Given the description of an element on the screen output the (x, y) to click on. 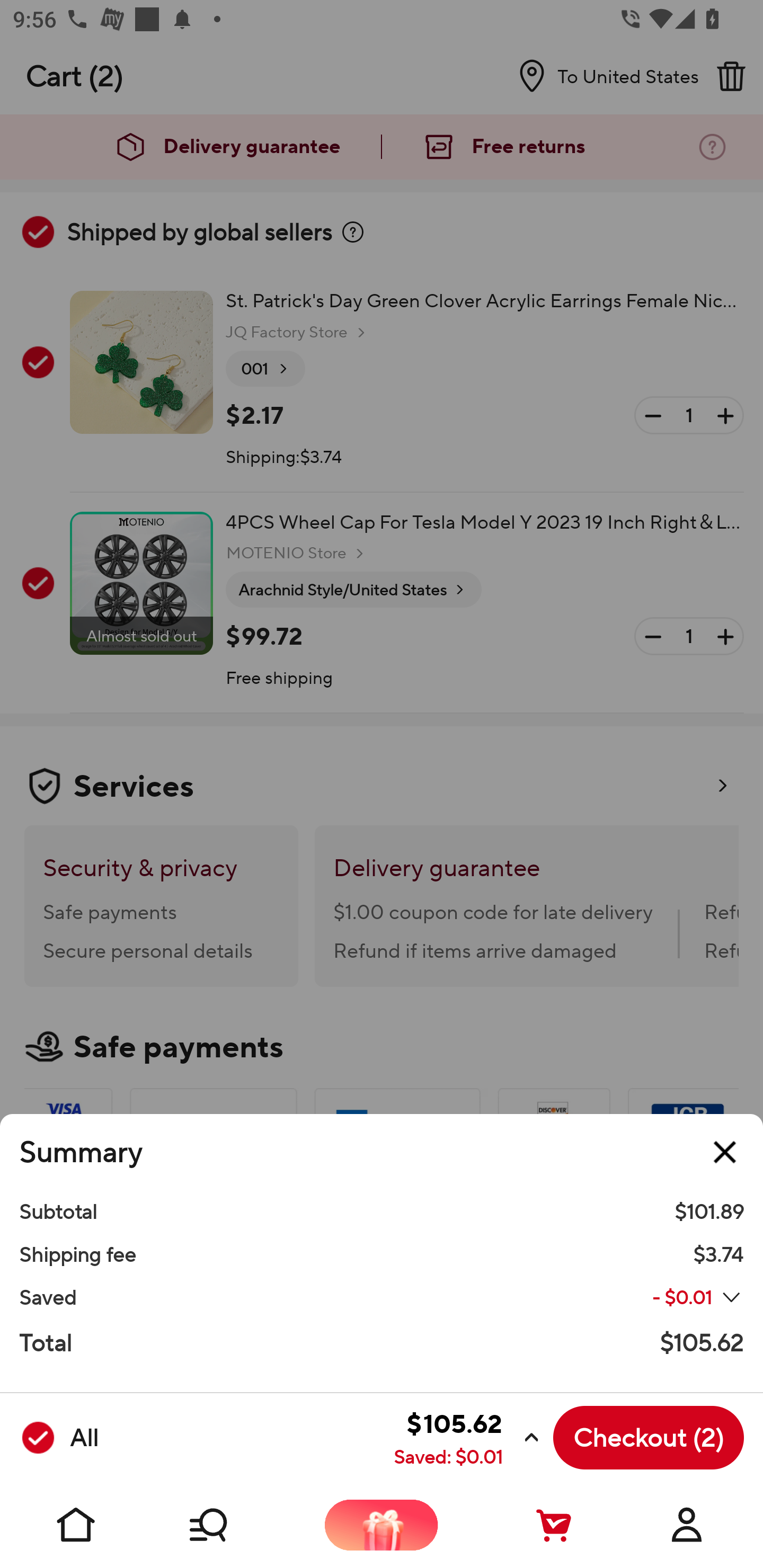
$_105.62 Saved: $0.01  (324, 1437)
Checkout (2) (648, 1437)
Home (76, 1524)
Shop (228, 1524)
Account (686, 1524)
